Given the description of an element on the screen output the (x, y) to click on. 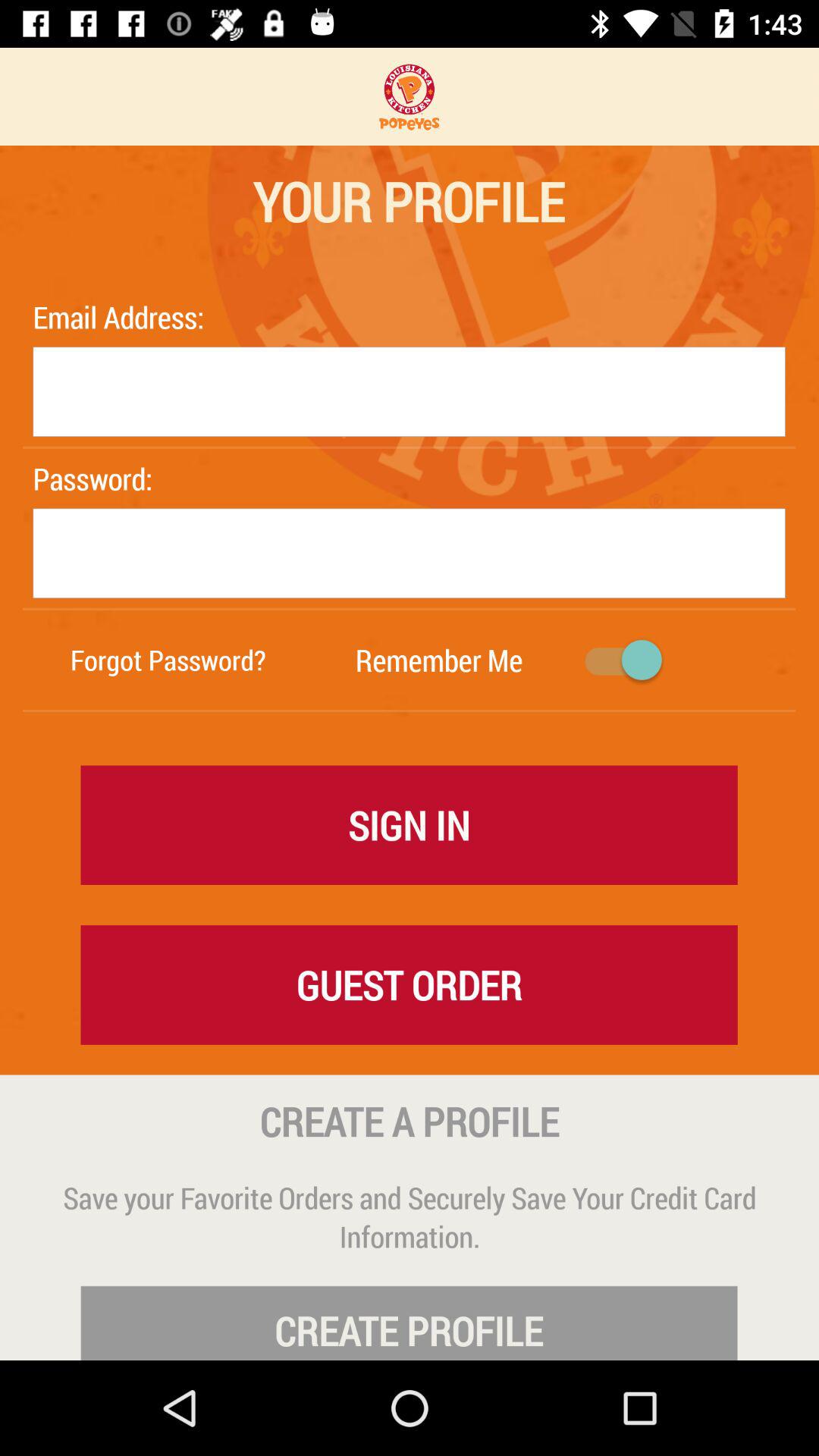
swipe to the email address: icon (122, 316)
